Given the description of an element on the screen output the (x, y) to click on. 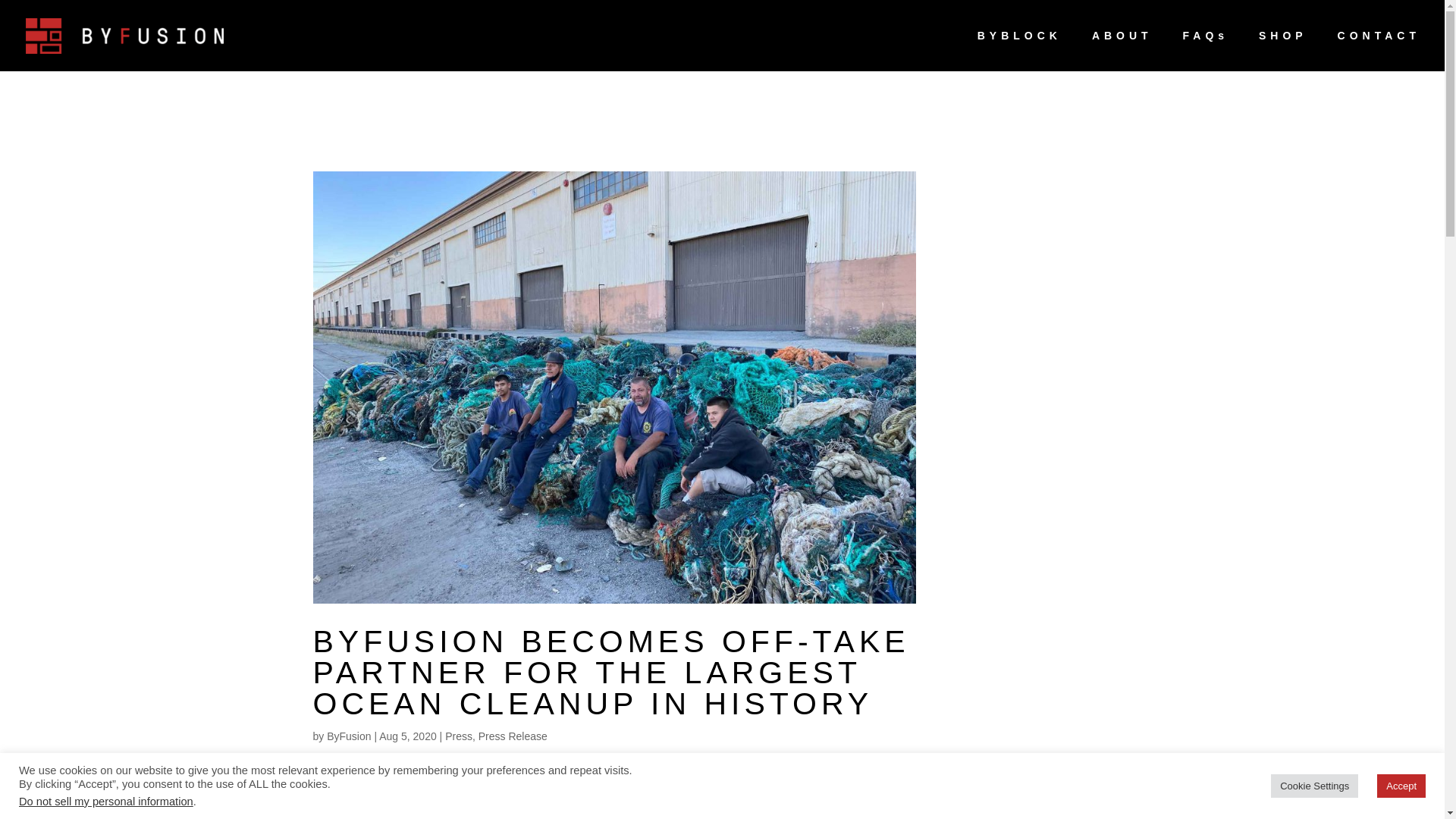
BYBLOCK (1018, 50)
Do not sell my personal information (105, 801)
Accept (1401, 785)
Cookie Settings (1314, 785)
FAQs (1205, 50)
SHOP (1283, 50)
Press (458, 736)
Posts by ByFusion (348, 736)
Press Release (513, 736)
CONTACT (1379, 50)
ByFusion (348, 736)
ABOUT (1122, 50)
